Given the description of an element on the screen output the (x, y) to click on. 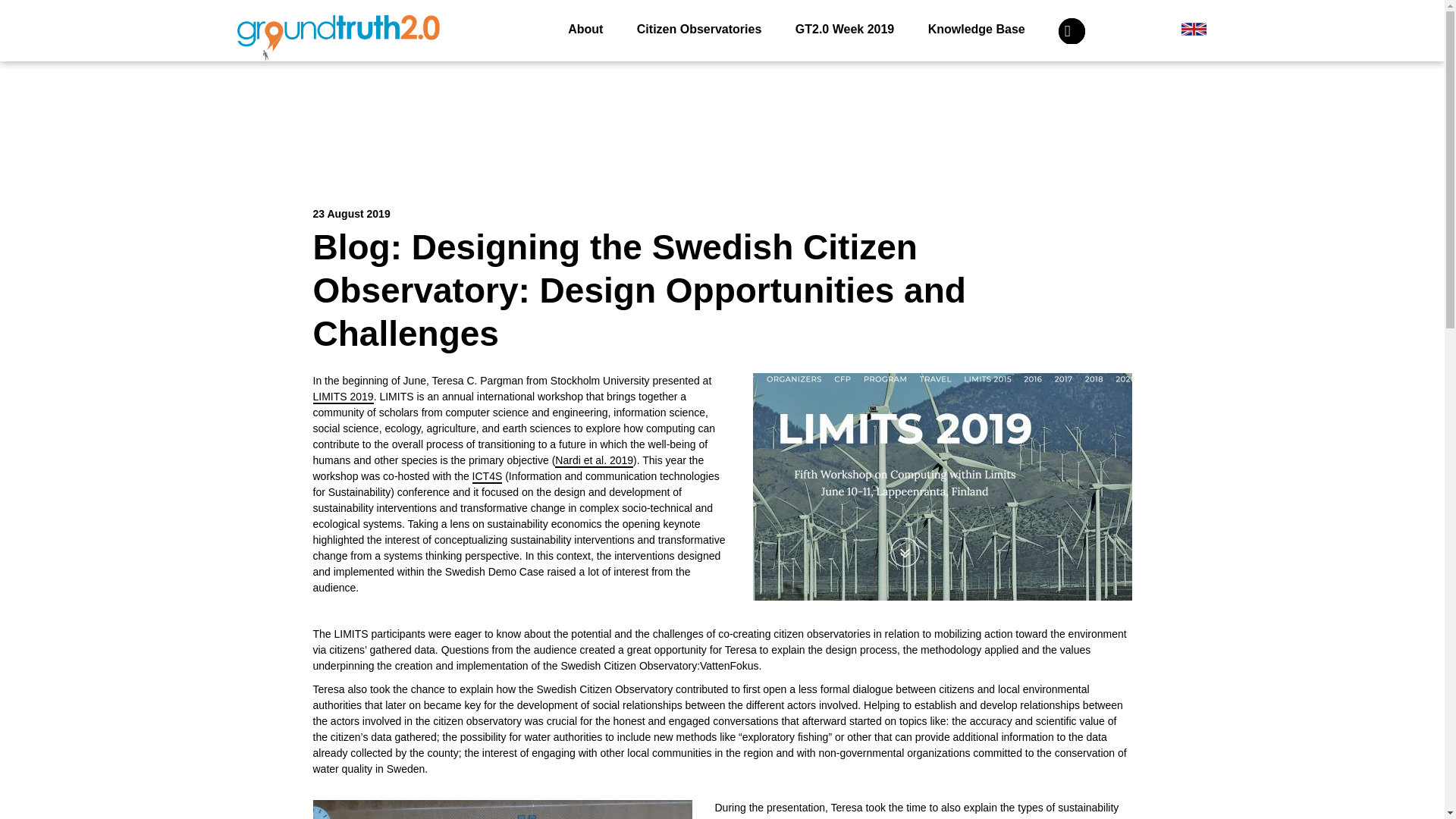
Related initiatives (994, 80)
Events (822, 80)
Activities (686, 80)
News (756, 80)
About GT2.0 (597, 80)
LIMITS 2019 (342, 397)
ICT4S (486, 477)
Knowledge Base (976, 29)
Partners (893, 80)
GT2.0 Week 2019 (843, 29)
Citizen Observatories (699, 29)
About (584, 29)
Nardi et al. 2019 (593, 460)
